Given the description of an element on the screen output the (x, y) to click on. 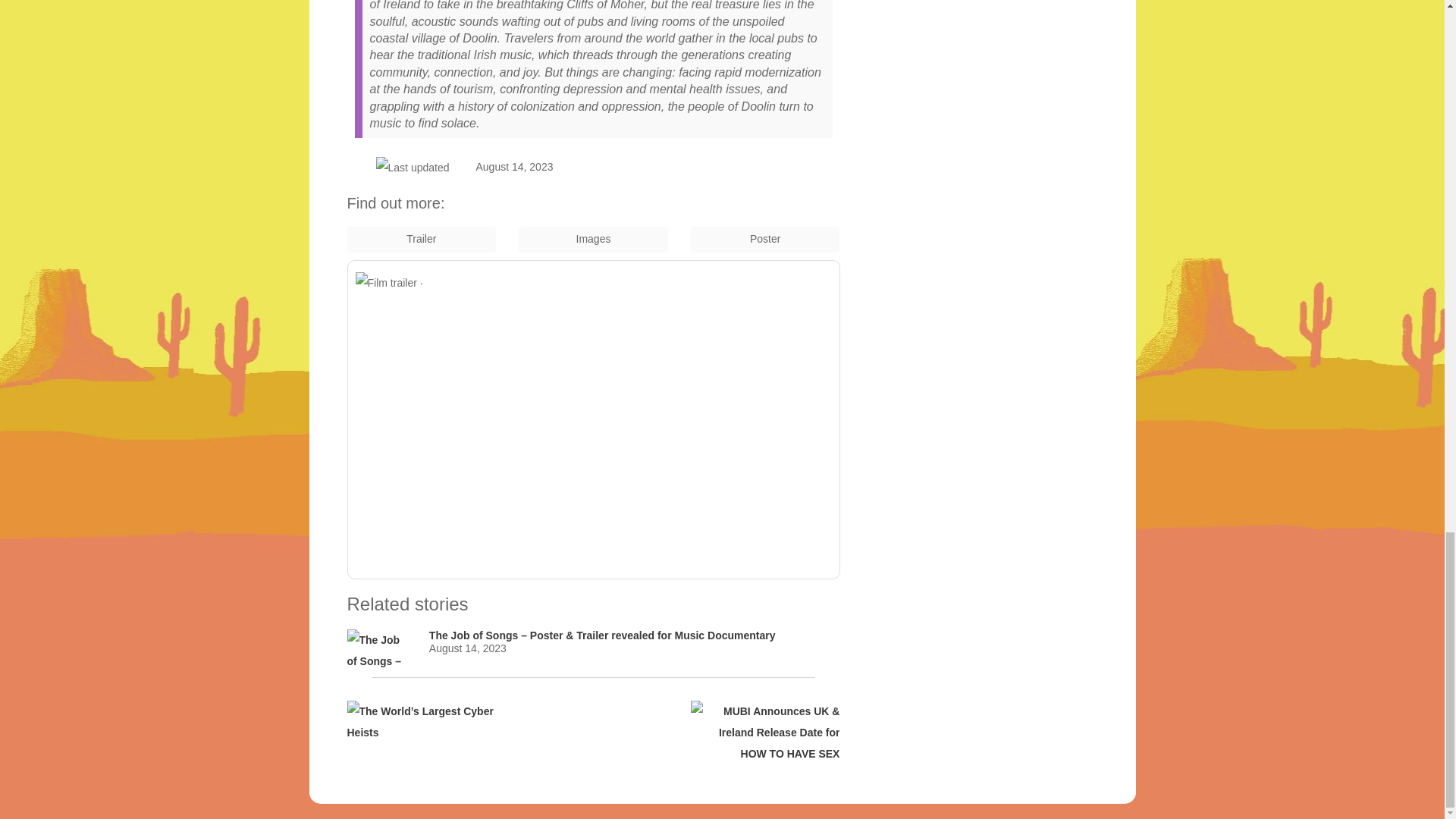
Poster (765, 239)
Trailer (421, 239)
Images (593, 239)
